Given the description of an element on the screen output the (x, y) to click on. 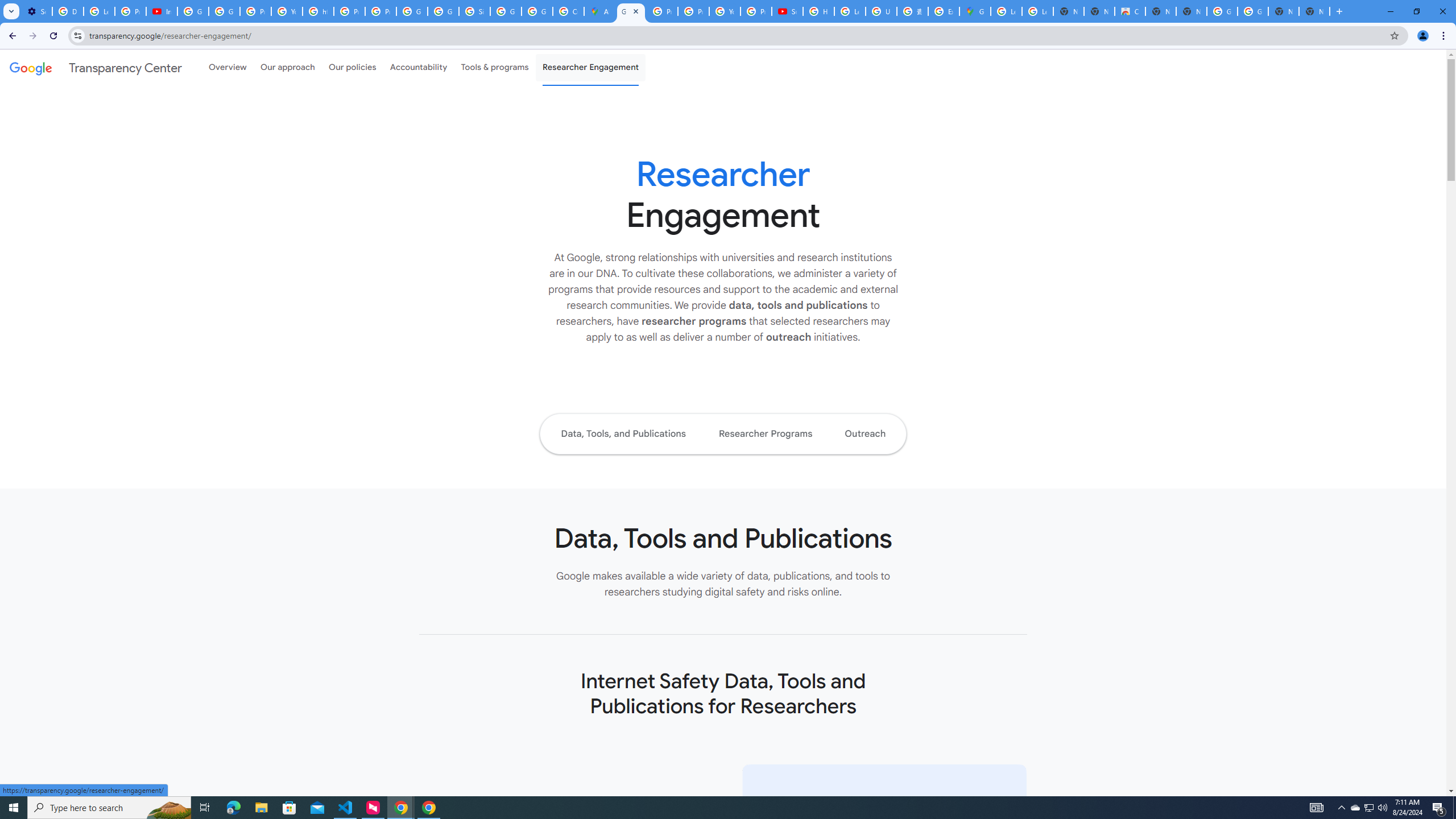
Researcher Engagement (590, 67)
Introduction | Google Privacy Policy - YouTube (161, 11)
Google Researcher Engagement - Transparency Center (631, 11)
Subscriptions - YouTube (787, 11)
Transparency Center (95, 67)
Our approach (287, 67)
YouTube (724, 11)
Delete photos & videos - Computer - Google Photos Help (67, 11)
Data, Tools, and Publications (622, 433)
Researcher Programs (764, 433)
